Given the description of an element on the screen output the (x, y) to click on. 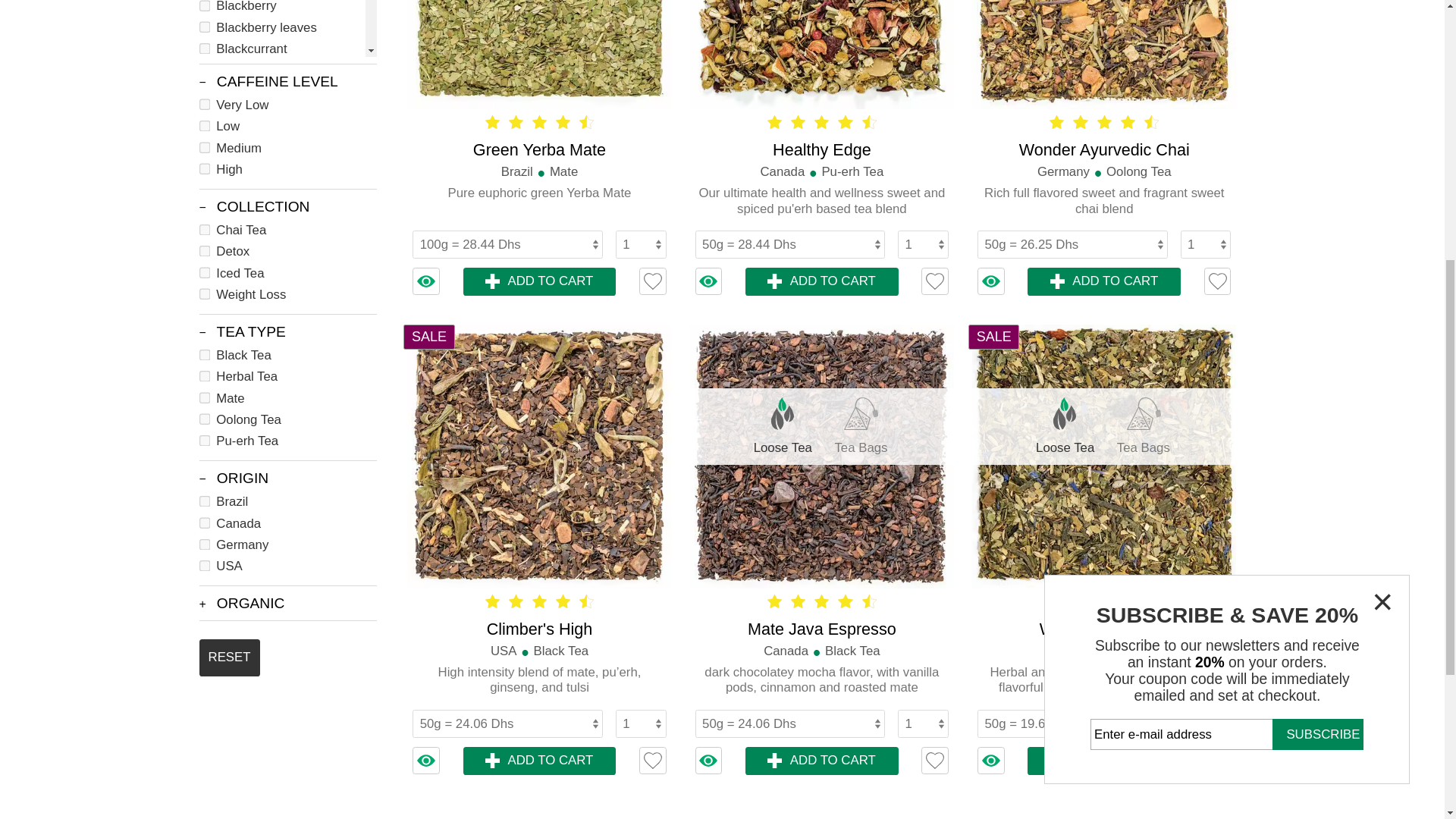
32 (170, 66)
86 (170, 48)
53 (170, 83)
45 (170, 30)
87 (170, 120)
453 (170, 102)
88 (170, 12)
